Given the description of an element on the screen output the (x, y) to click on. 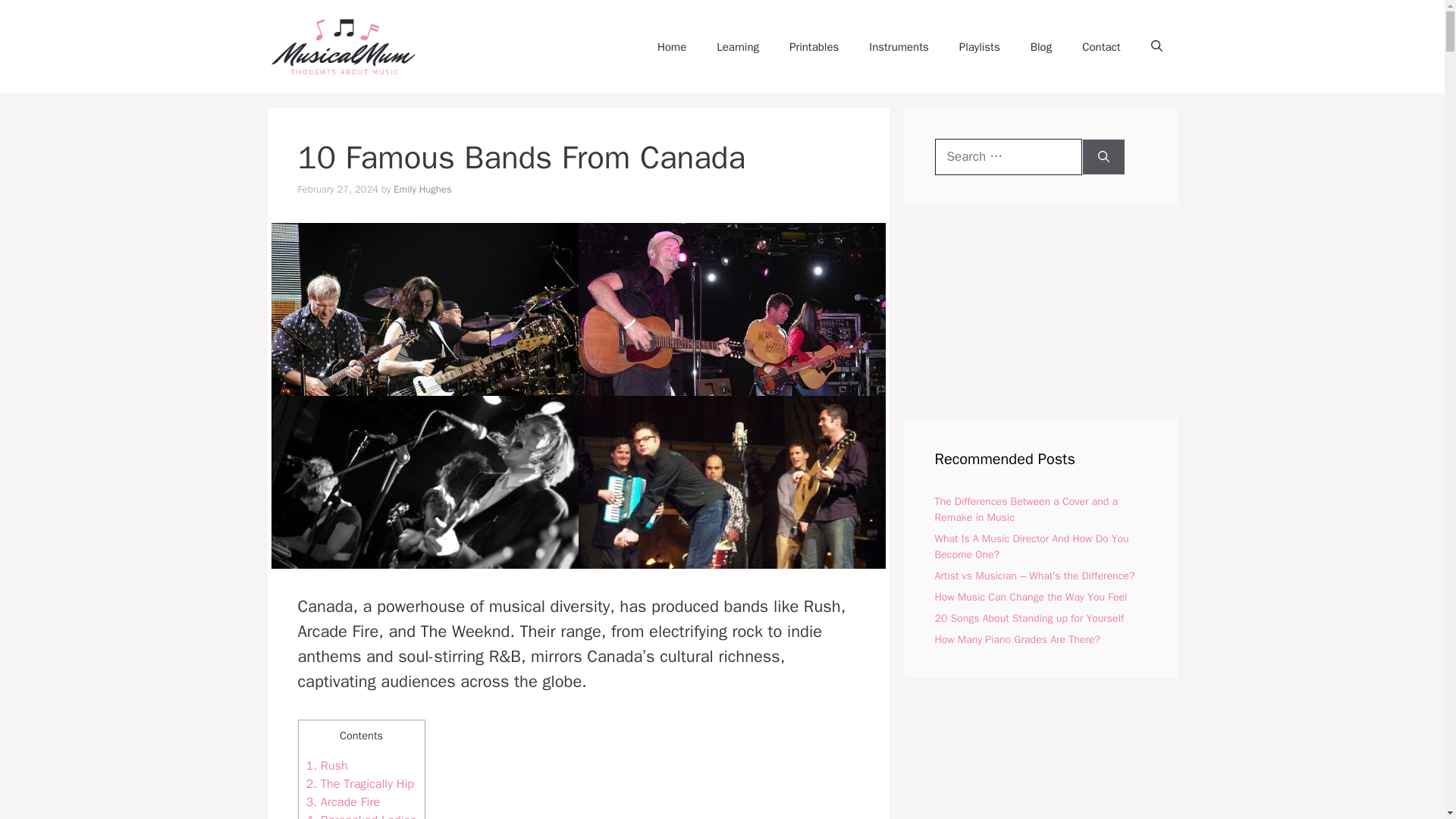
2. The Tragically Hip (359, 783)
Home (671, 46)
Contact (1101, 46)
Emily Hughes (422, 188)
4. Barenaked Ladies (360, 815)
Learning (737, 46)
Instruments (898, 46)
Printables (813, 46)
Playlists (978, 46)
1. Rush (326, 765)
3. Arcade Fire (342, 801)
Blog (1040, 46)
View all posts by Emily Hughes (422, 188)
